Given the description of an element on the screen output the (x, y) to click on. 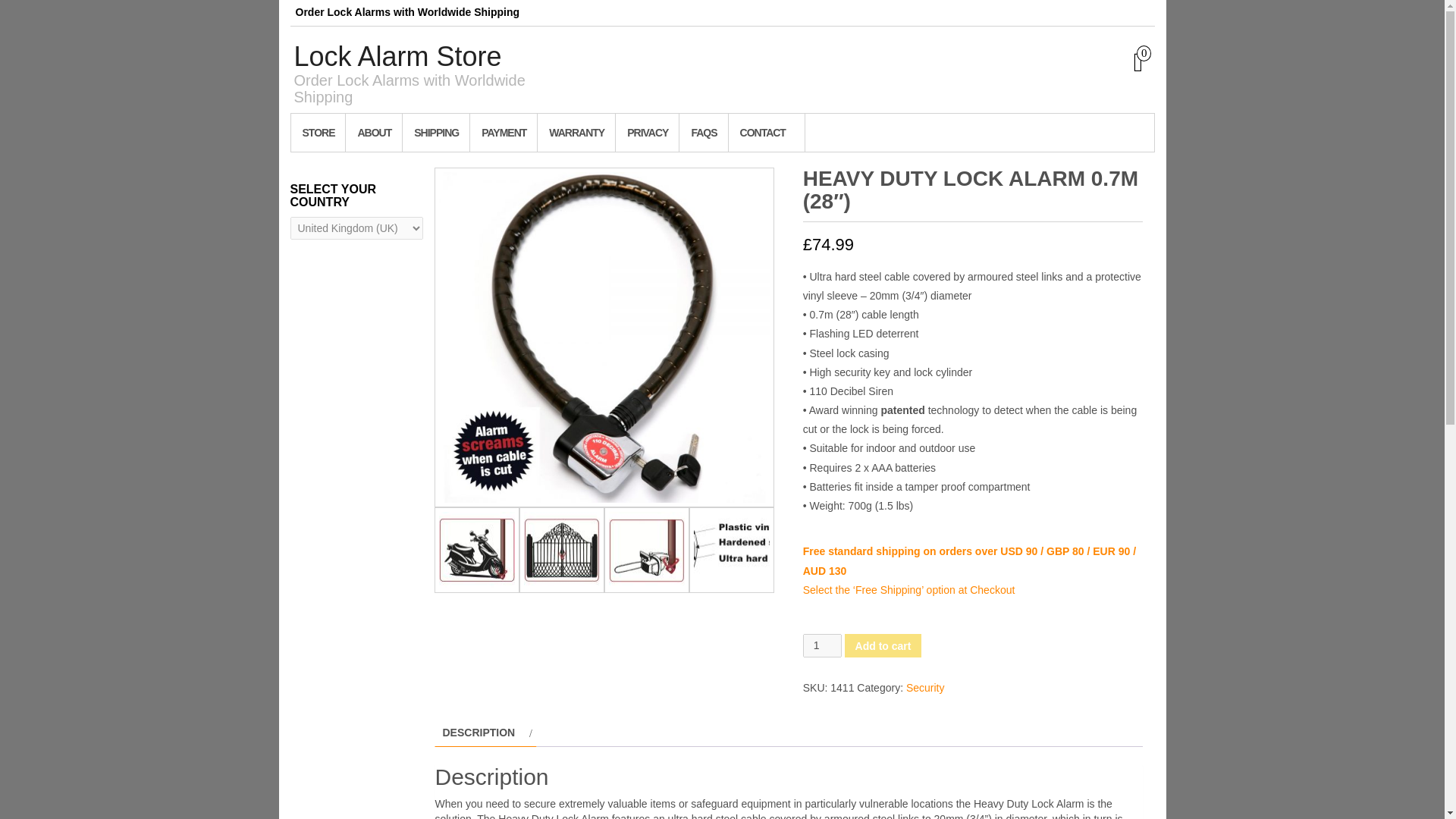
DESCRIPTION (478, 733)
Heavy Duty Lock Alarm (603, 337)
PRIVACY (646, 132)
CONTACT (766, 132)
Lock Alarm Store (398, 56)
Lock Alarm Store (398, 56)
ABOUT (374, 132)
FAQS (703, 132)
Contact (766, 132)
Shipping (435, 132)
PAYMENT (502, 132)
Store (317, 132)
WARRANTY (576, 132)
SHIPPING (435, 132)
About (374, 132)
